Given the description of an element on the screen output the (x, y) to click on. 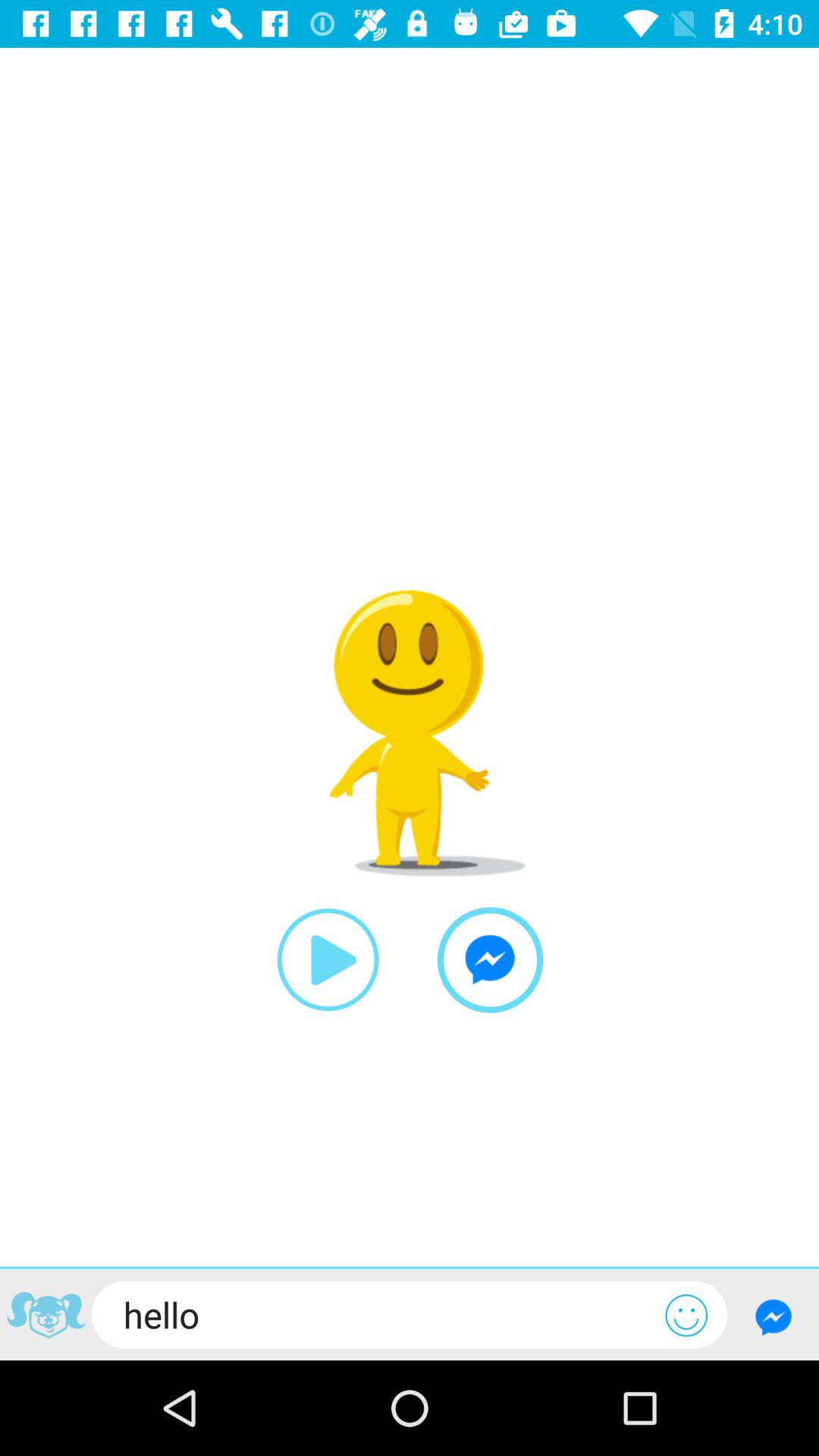
submit chat message (773, 1316)
